Given the description of an element on the screen output the (x, y) to click on. 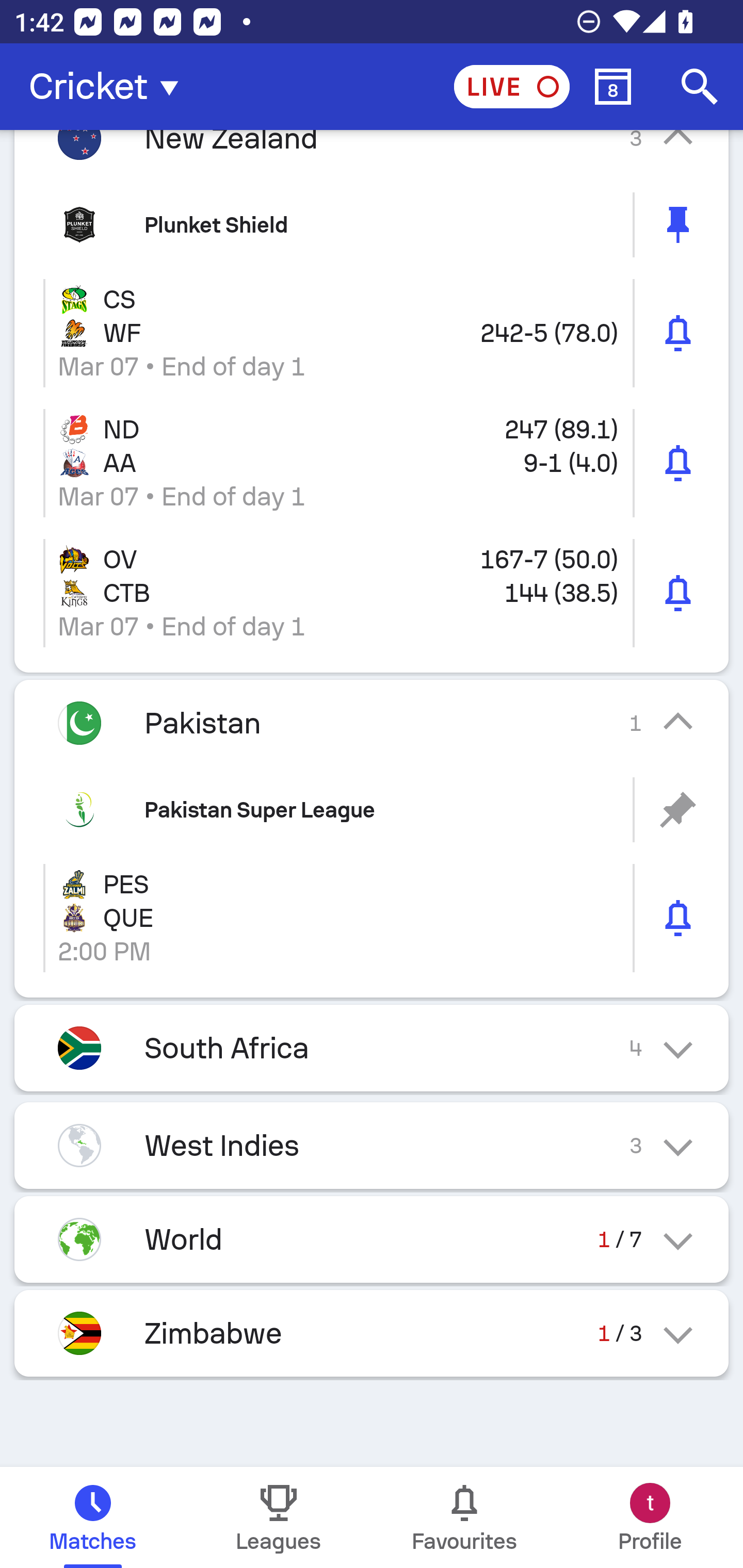
Cricket (109, 86)
Calendar (612, 86)
Search (699, 86)
Plunket Shield (371, 224)
CS WF 242-5 (78.0) Mar 07 • End of day 1 (371, 333)
ND 247 (89.1) AA 9-1 (4.0) Mar 07 • End of day 1 (371, 463)
Pakistan 1 (371, 723)
Pakistan Super League (371, 809)
PES QUE 2:00 PM (371, 917)
South Africa 4 (371, 1048)
West Indies 3 (371, 1145)
World 1 / 7 (371, 1239)
Zimbabwe 1 / 3 (371, 1333)
Leagues (278, 1517)
Favourites (464, 1517)
Profile (650, 1517)
